Given the description of an element on the screen output the (x, y) to click on. 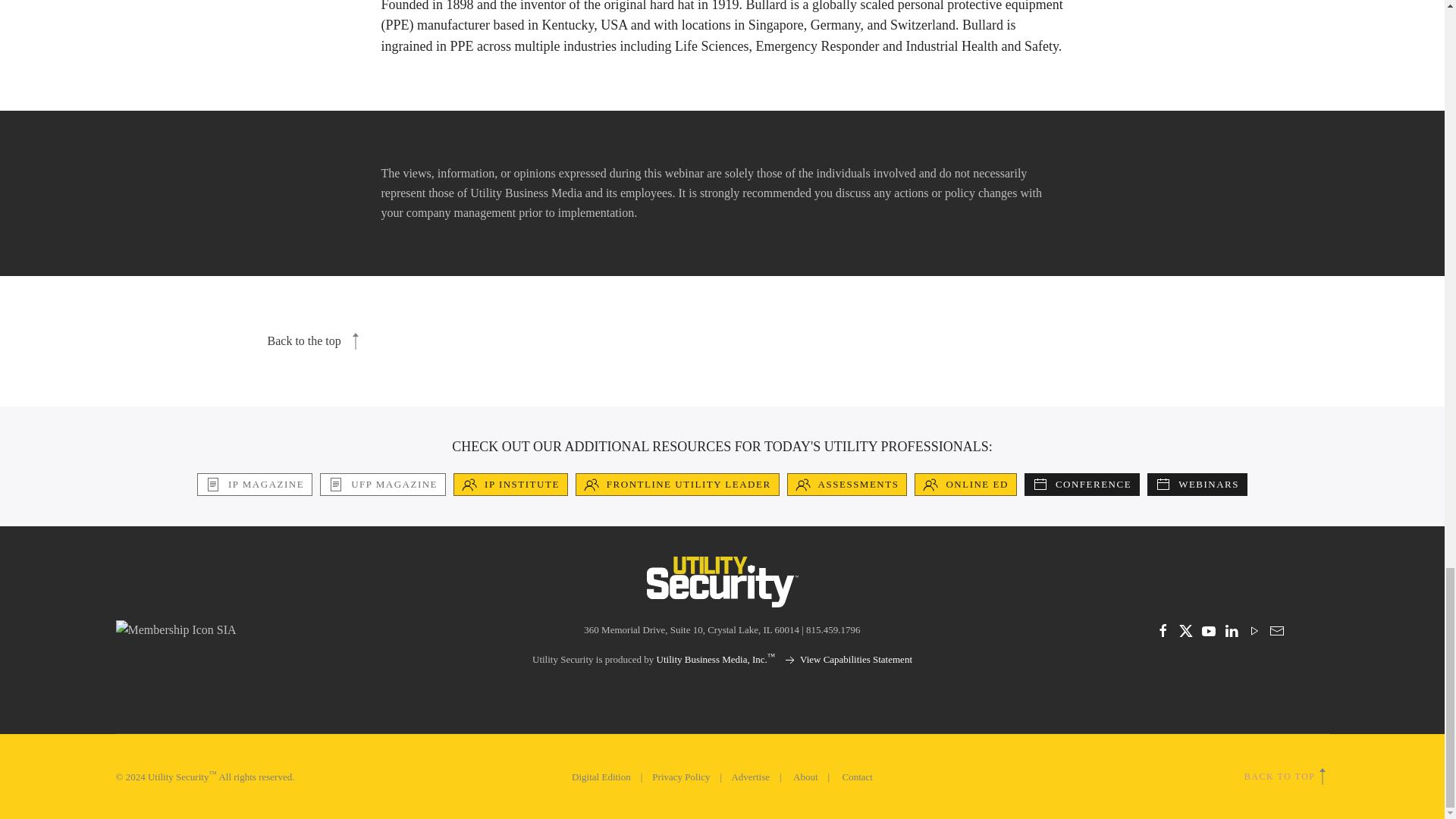
Frontline Microlearning Webinars (1197, 484)
Incident Prevention Magazine (254, 484)
Assess My Team (847, 484)
iPi Online Education (965, 484)
iP Institute (509, 484)
Capabilities Statement (847, 659)
Frontline Utility Leadership Education (676, 484)
Utility Fleet Professional Magazine (382, 484)
